Given the description of an element on the screen output the (x, y) to click on. 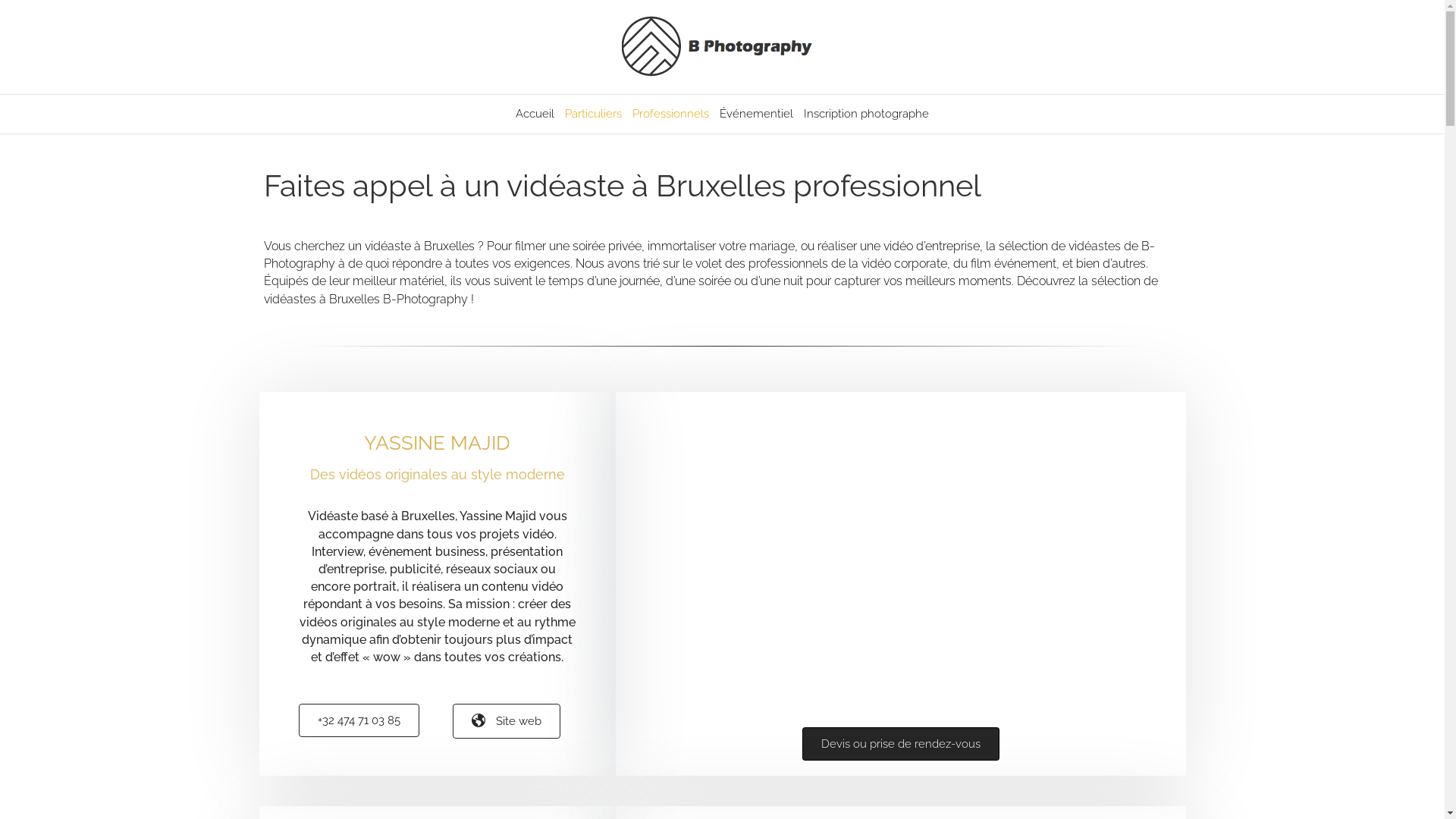
Particuliers Element type: text (593, 113)
Devis ou prise de rendez-vous Element type: text (900, 743)
Professionnels Element type: text (670, 113)
Eficio Element type: hover (900, 552)
Site web Element type: text (506, 720)
Accueil Element type: text (534, 113)
+32 474 71 03 85 Element type: text (358, 720)
Inscription photographe Element type: text (866, 113)
